Given the description of an element on the screen output the (x, y) to click on. 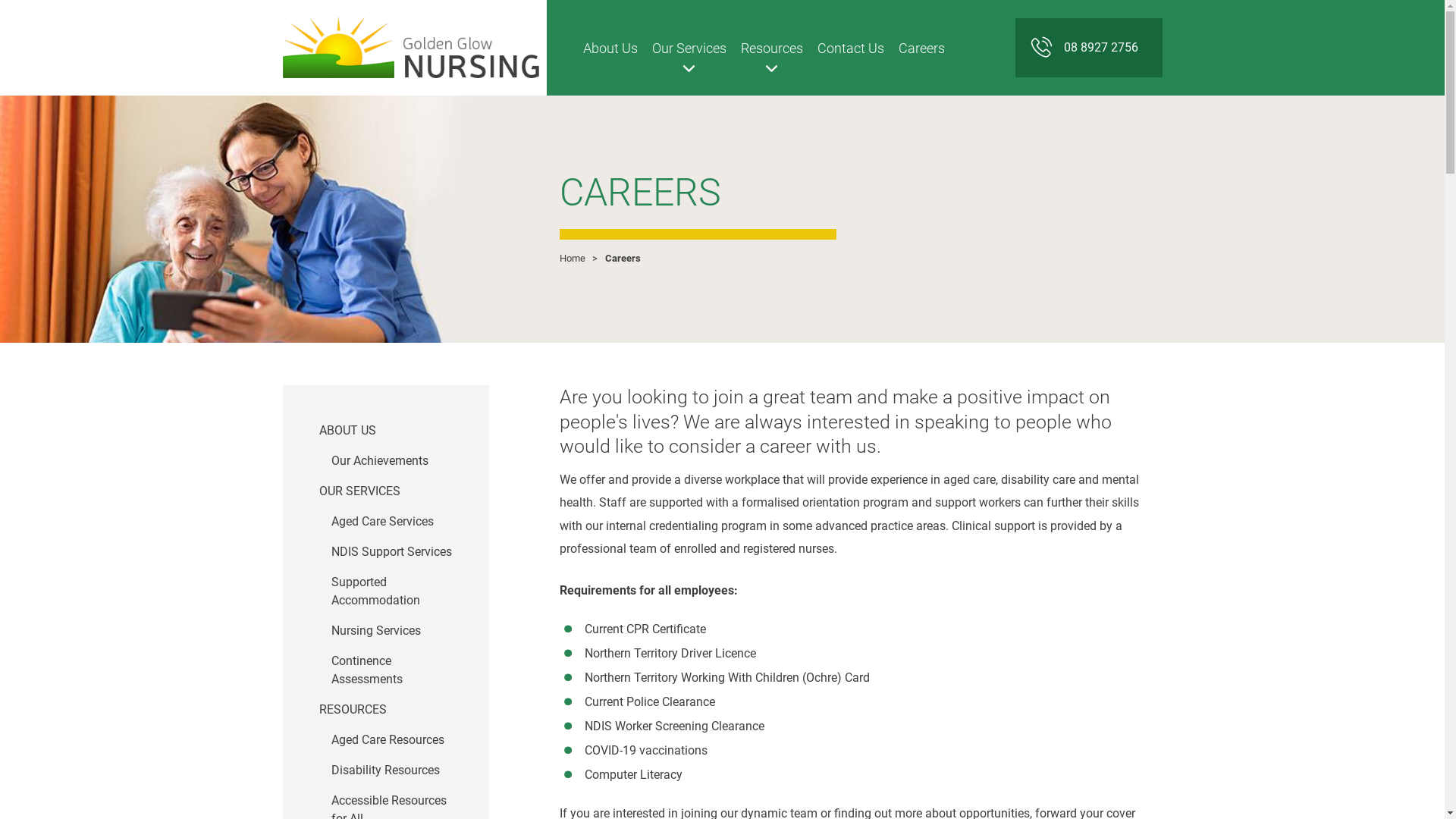
Our Achievements Element type: text (391, 460)
Nursing Services Element type: text (391, 630)
Home Element type: text (572, 257)
ABOUT US Element type: text (385, 430)
Aged Care Services Element type: text (391, 521)
OUR SERVICES Element type: text (385, 491)
Resources Element type: text (771, 47)
NDIS Support Services Element type: text (391, 551)
Our Services Element type: text (689, 47)
About Us Element type: text (609, 47)
RESOURCES Element type: text (385, 709)
Careers Element type: text (921, 47)
Skip to main content Element type: text (0, 95)
Aged Care Resources Element type: text (391, 739)
Disability Resources Element type: text (391, 770)
Supported Accommodation Element type: text (391, 591)
08 8927 2756 Element type: text (1087, 47)
Contact Us Element type: text (850, 47)
Continence Assessments Element type: text (391, 670)
